Given the description of an element on the screen output the (x, y) to click on. 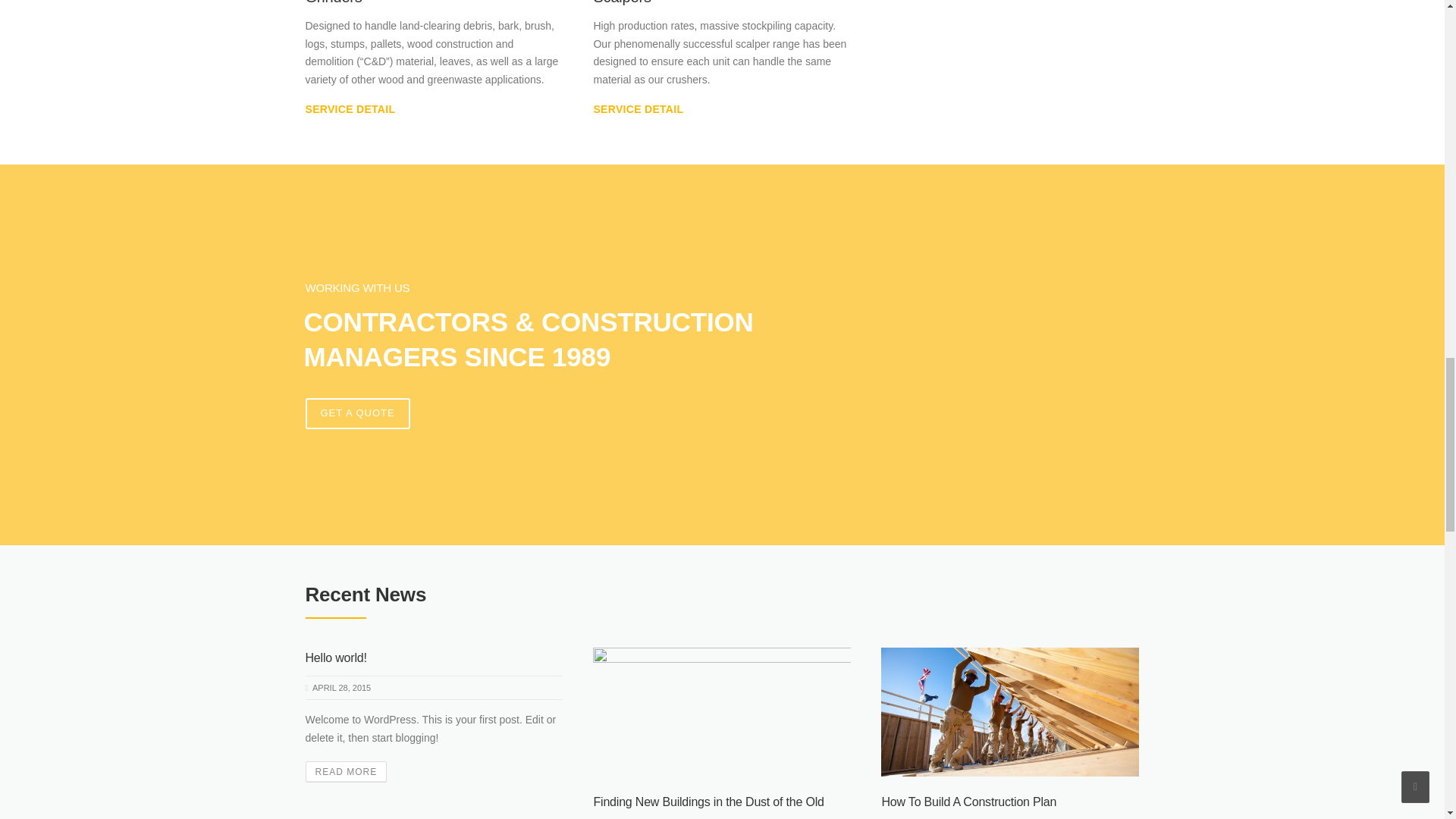
Grinders (332, 2)
Scalpers (621, 2)
SERVICE DETAIL (349, 109)
